Given the description of an element on the screen output the (x, y) to click on. 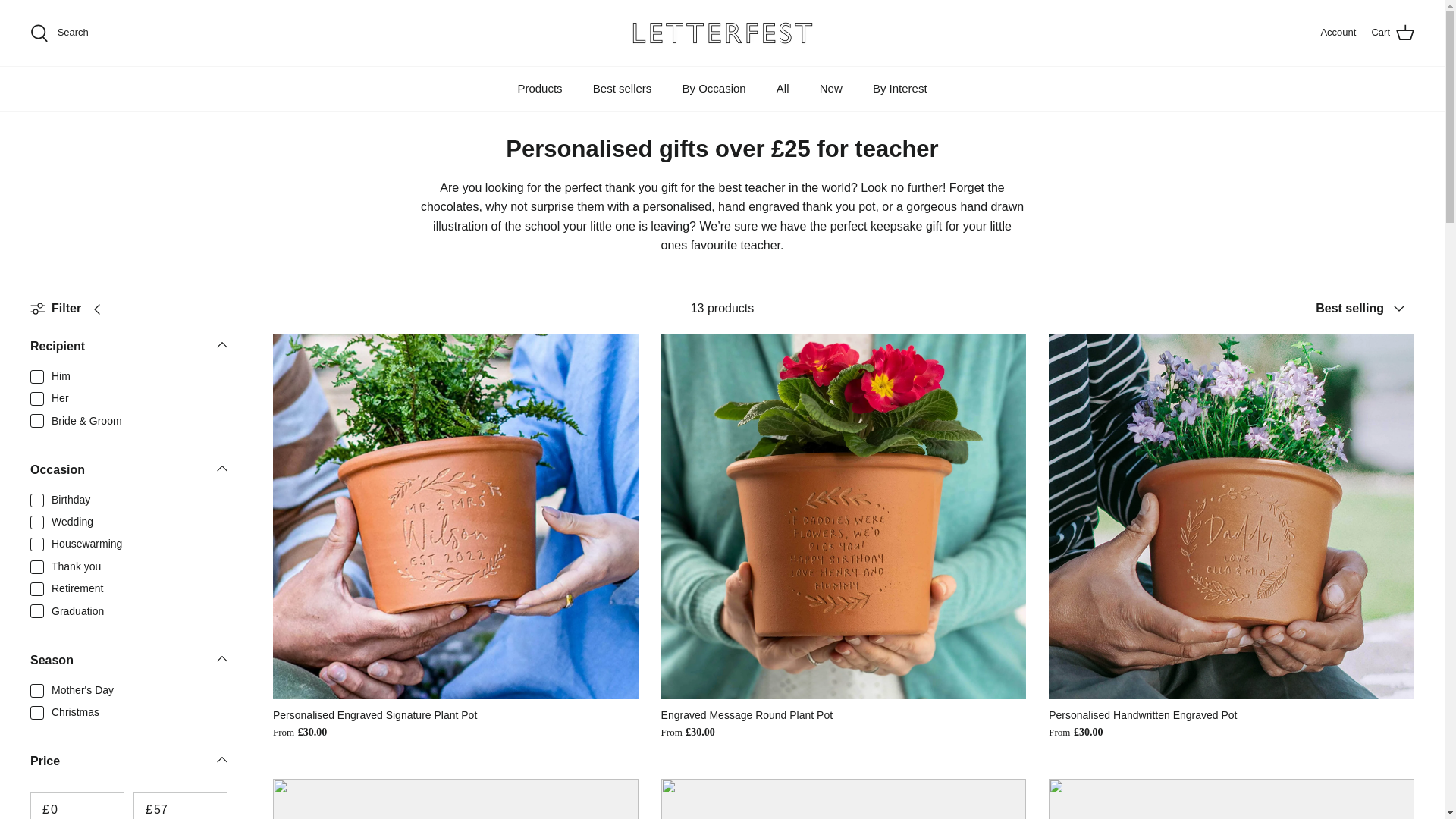
Cart (1392, 32)
Letterfest (722, 32)
Down (221, 760)
Best sellers (128, 665)
Best selling (622, 88)
Down (1364, 308)
Down (221, 658)
Wedding (221, 467)
